Given the description of an element on the screen output the (x, y) to click on. 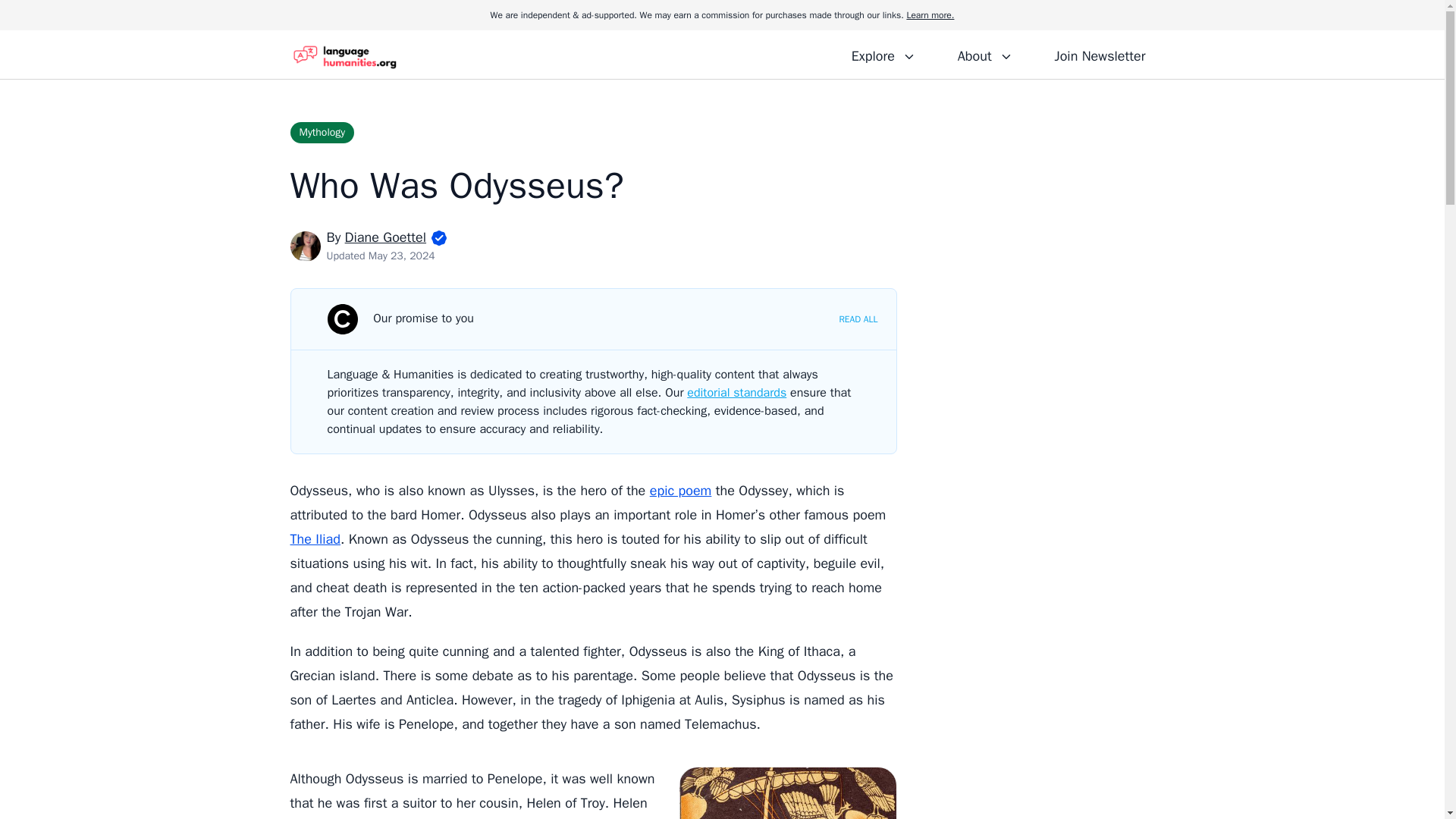
Diane Goettel (385, 237)
READ ALL (857, 318)
Learn more. (929, 15)
epic poem (680, 490)
editorial standards (736, 393)
Explore (883, 54)
The Iliad (314, 538)
About (984, 54)
Mythology (321, 132)
Join Newsletter (1099, 54)
